Given the description of an element on the screen output the (x, y) to click on. 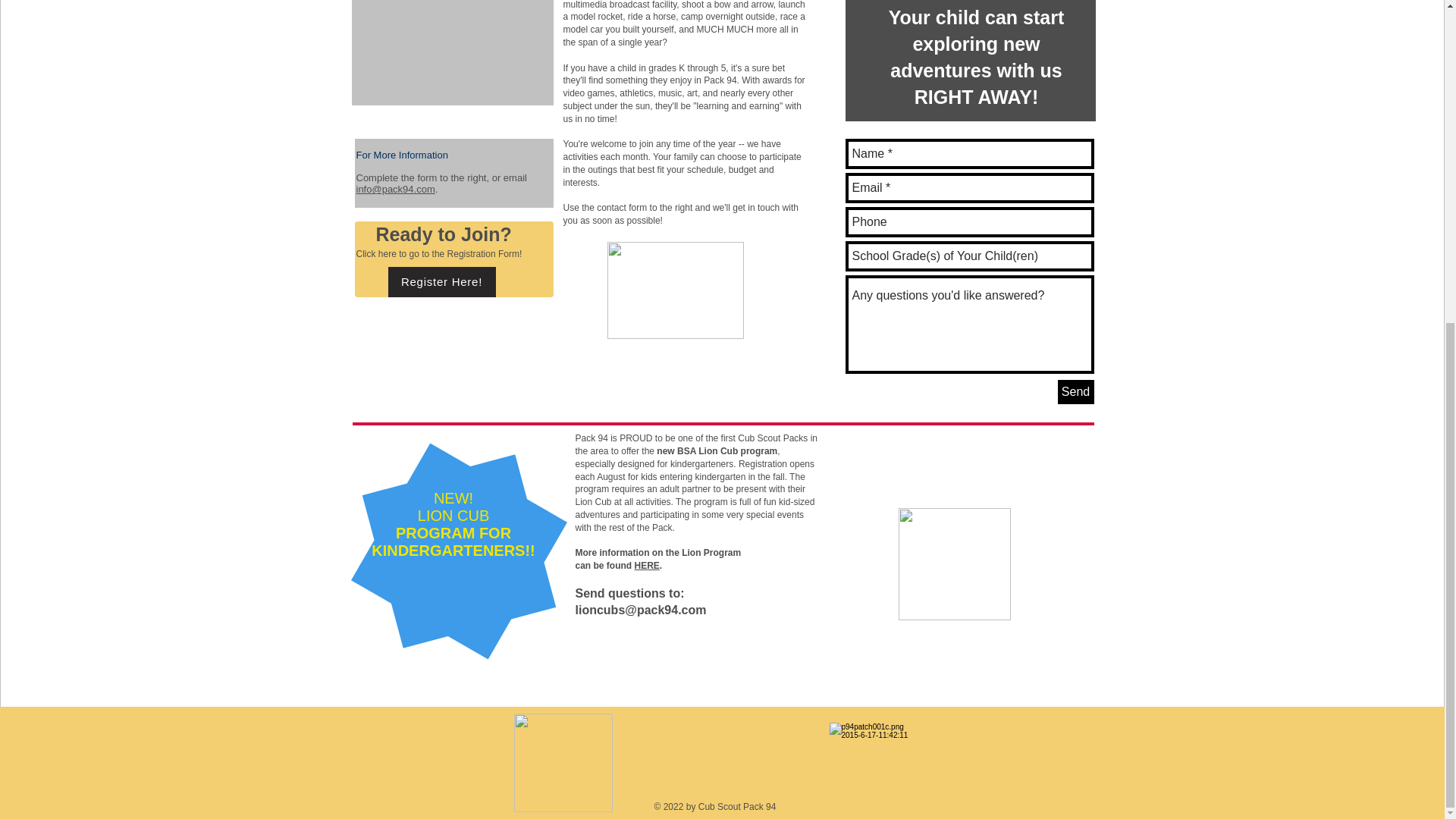
Register Here! (442, 281)
HERE (646, 565)
Send (1075, 392)
2015-05-26.jpg (452, 52)
